Given the description of an element on the screen output the (x, y) to click on. 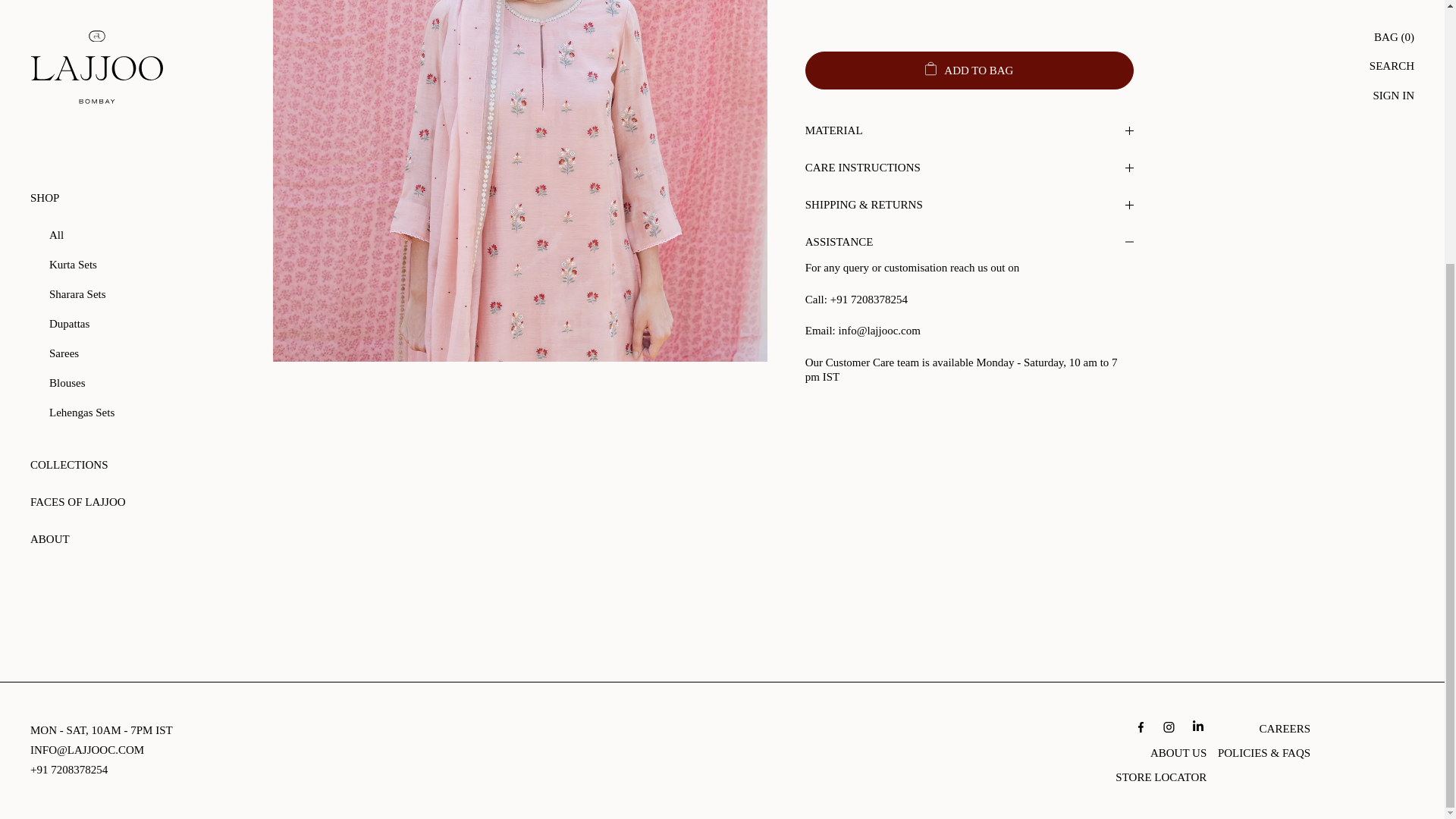
FACES OF LAJJOO (136, 122)
tel:7208378254 (68, 769)
ADD TO BAG (969, 70)
tel:917208378254 (868, 299)
Lehengas Sets (146, 32)
ABOUT (136, 159)
Blouses (146, 9)
COLLECTIONS (136, 85)
